Given the description of an element on the screen output the (x, y) to click on. 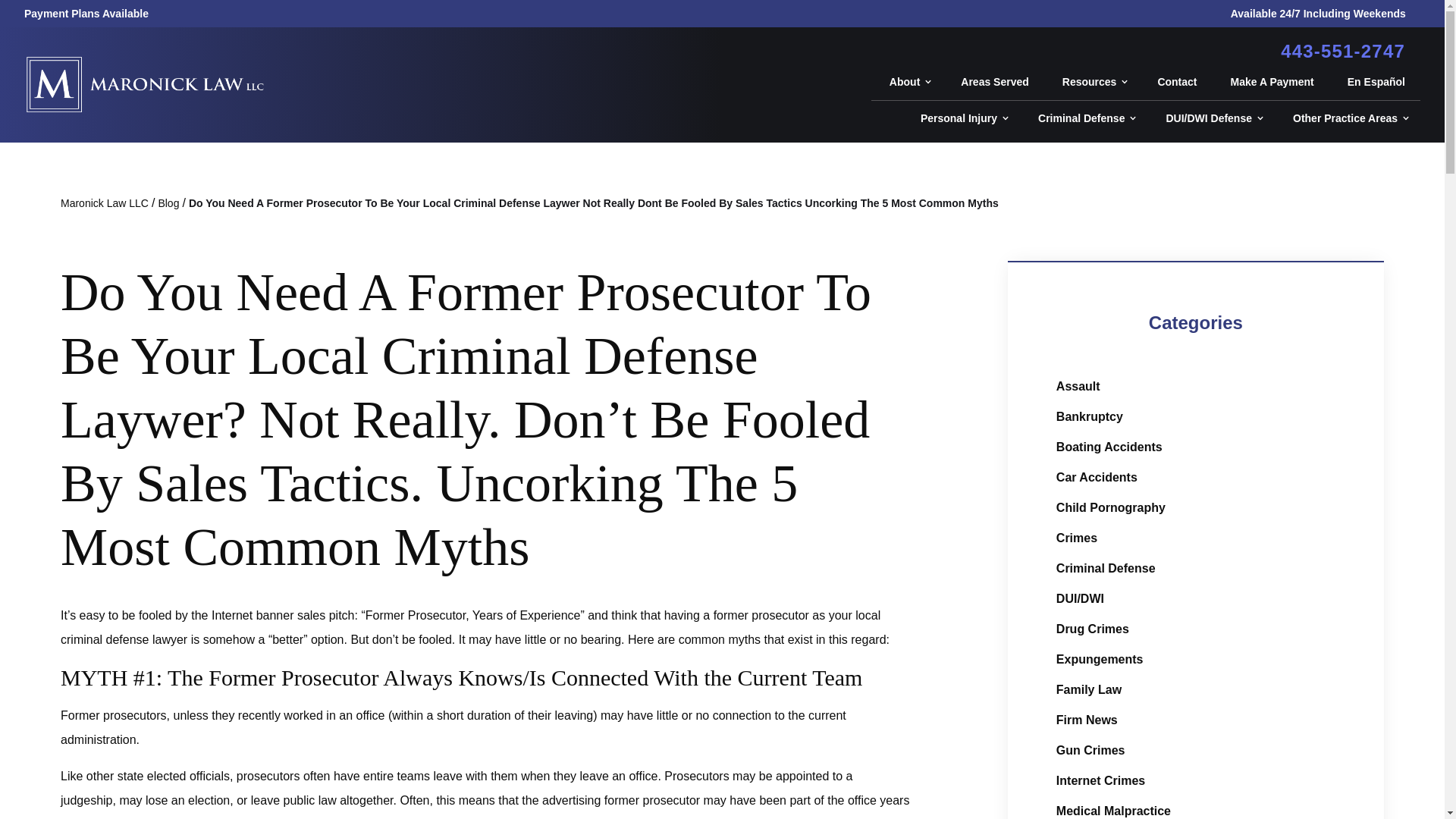
443-551-2747 (1343, 51)
Areas Served (992, 81)
Contact (1174, 81)
Make A Payment (1270, 81)
About (906, 81)
Personal Injury (961, 118)
